Given the description of an element on the screen output the (x, y) to click on. 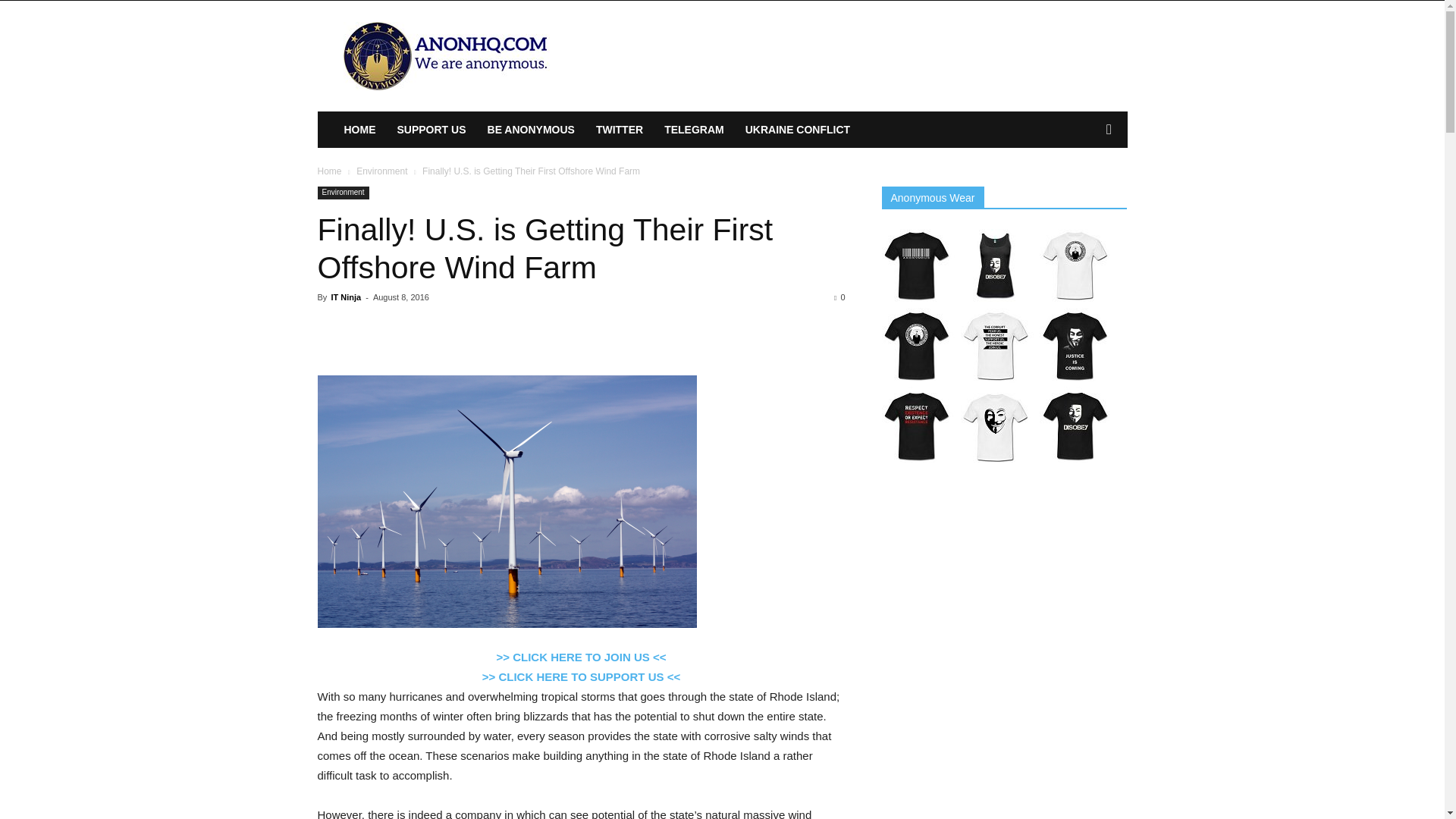
0 (839, 297)
Environment (381, 171)
View all posts in Environment (381, 171)
UKRAINE CONFLICT (797, 129)
Anonymous News Network (445, 56)
Environment (342, 192)
BE ANONYMOUS (531, 129)
TELEGRAM (694, 129)
Offshore wind farm (506, 501)
TWITTER (619, 129)
HOME (360, 129)
Home (328, 171)
SUPPORT US (432, 129)
Search (1085, 190)
IT Ninja (345, 297)
